Given the description of an element on the screen output the (x, y) to click on. 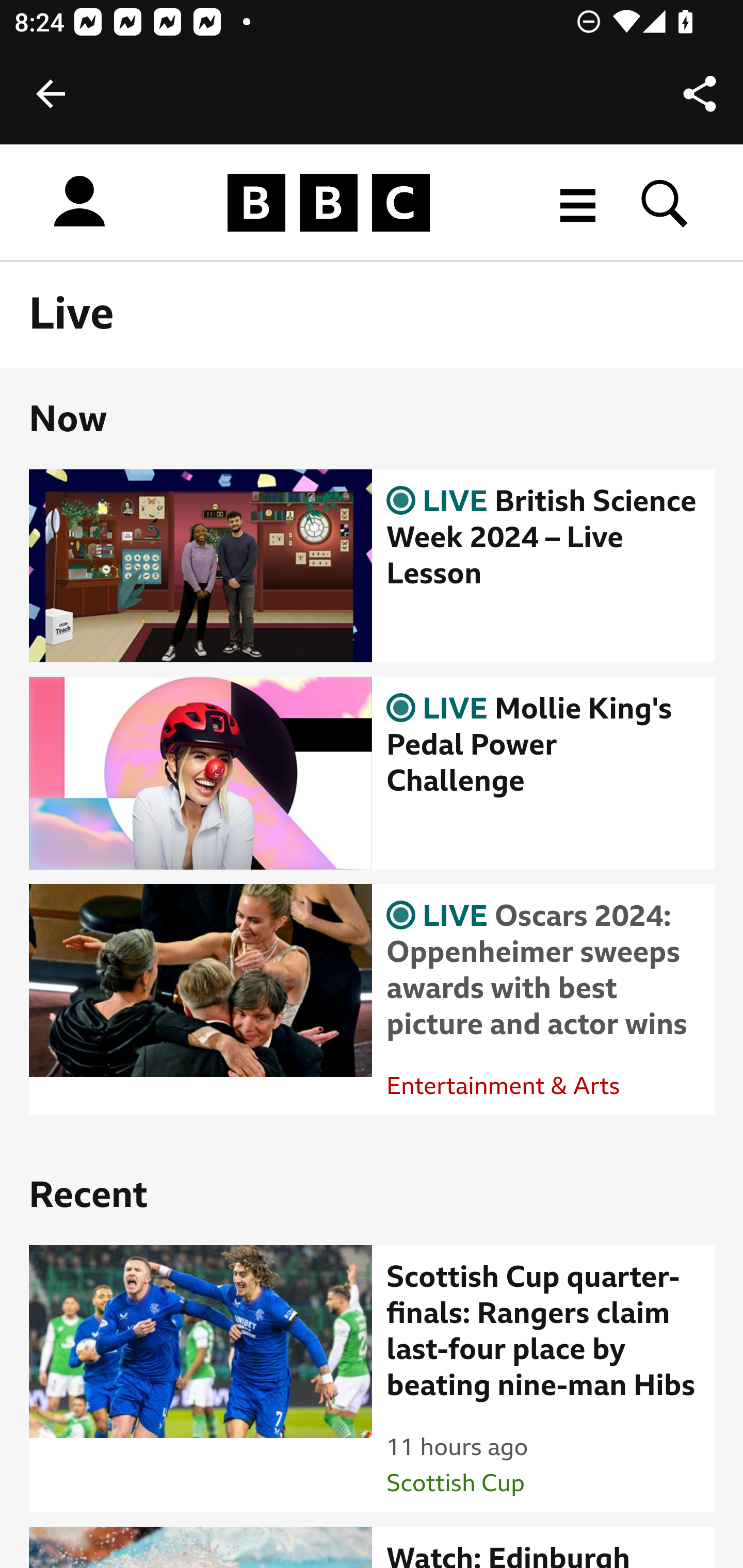
Back (50, 93)
Share (699, 93)
Sign in (79, 202)
BBC Homepage (329, 202)
More menu (578, 202)
Search BBC (665, 202)
Entertainment & Arts (503, 1085)
Scottish Cup (455, 1483)
Watch: Edinburgh International Swim Meet (544, 1553)
